Given the description of an element on the screen output the (x, y) to click on. 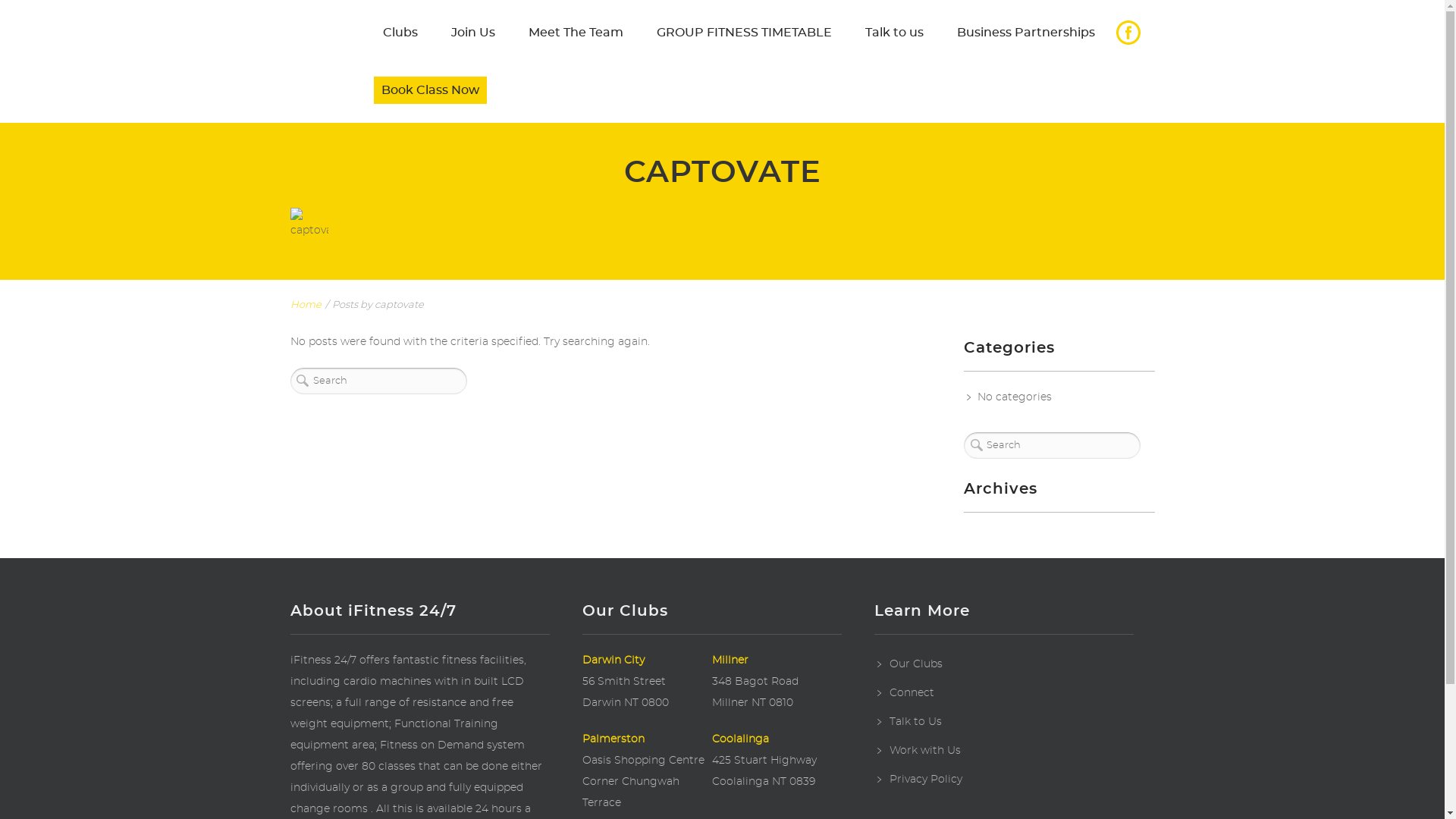
Clubs Element type: text (399, 32)
Book Class Now Element type: text (429, 89)
Business Partnerships Element type: text (1025, 32)
Join Us Element type: text (472, 32)
Home Element type: text (304, 305)
Privacy Policy Element type: text (925, 779)
Talk to us Element type: text (893, 32)
Connect Element type: text (911, 692)
Work with Us Element type: text (924, 750)
Our Clubs Element type: text (915, 663)
Meet The Team Element type: text (575, 32)
Talk to Us Element type: text (915, 721)
GROUP FITNESS TIMETABLE Element type: text (744, 32)
iFitness 24/7 Element type: hover (327, 61)
Facebook Element type: text (1128, 32)
